Given the description of an element on the screen output the (x, y) to click on. 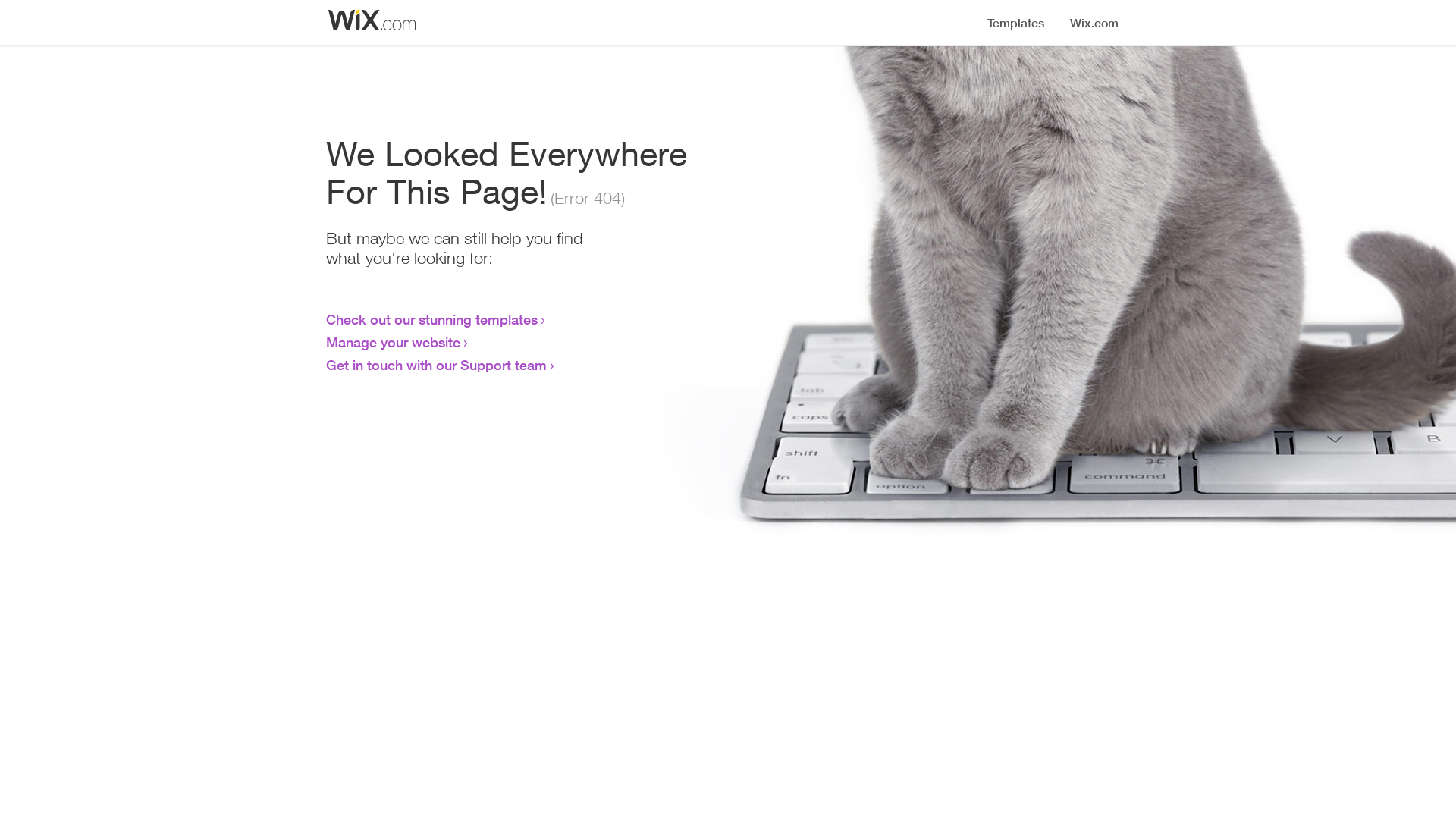
Get in touch with our Support team Element type: text (436, 364)
Manage your website Element type: text (393, 341)
Check out our stunning templates Element type: text (431, 318)
